Given the description of an element on the screen output the (x, y) to click on. 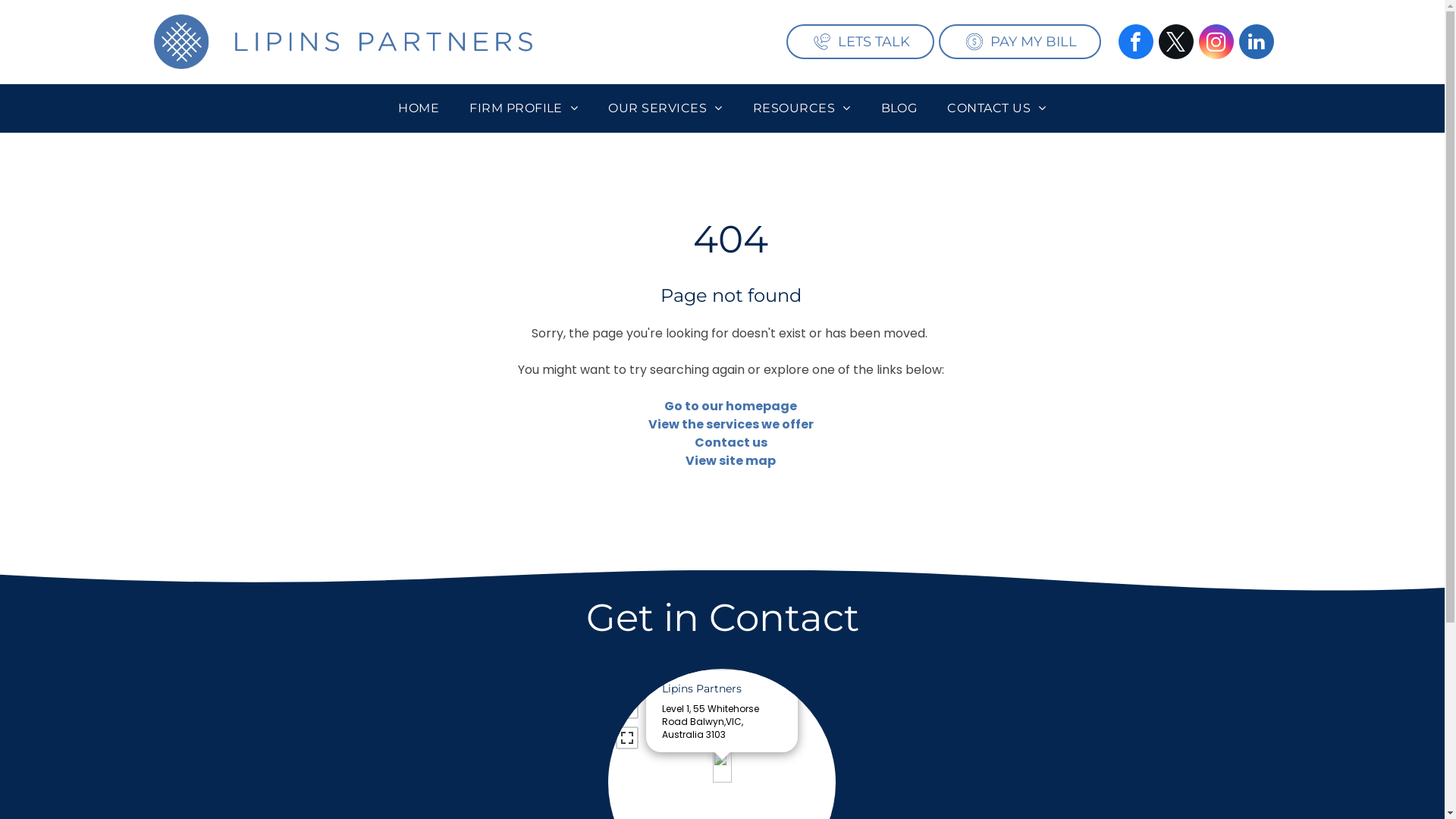
BLOG Element type: text (899, 108)
FIRM PROFILE Element type: text (523, 108)
+ Element type: text (627, 687)
CONTACT US Element type: text (995, 108)
LETS TALK Element type: text (857, 41)
PAY MY BILL Element type: text (1017, 41)
Go to our homepage Element type: text (730, 405)
OUR SERVICES Element type: text (665, 108)
View the services we offer Element type: text (730, 424)
RESOURCES Element type: text (801, 108)
View Fullscreen Element type: hover (627, 737)
HOME Element type: text (418, 108)
Contact us Element type: text (730, 442)
Layers Element type: hover (816, 687)
- Element type: text (627, 707)
View site map Element type: text (730, 460)
